Given the description of an element on the screen output the (x, y) to click on. 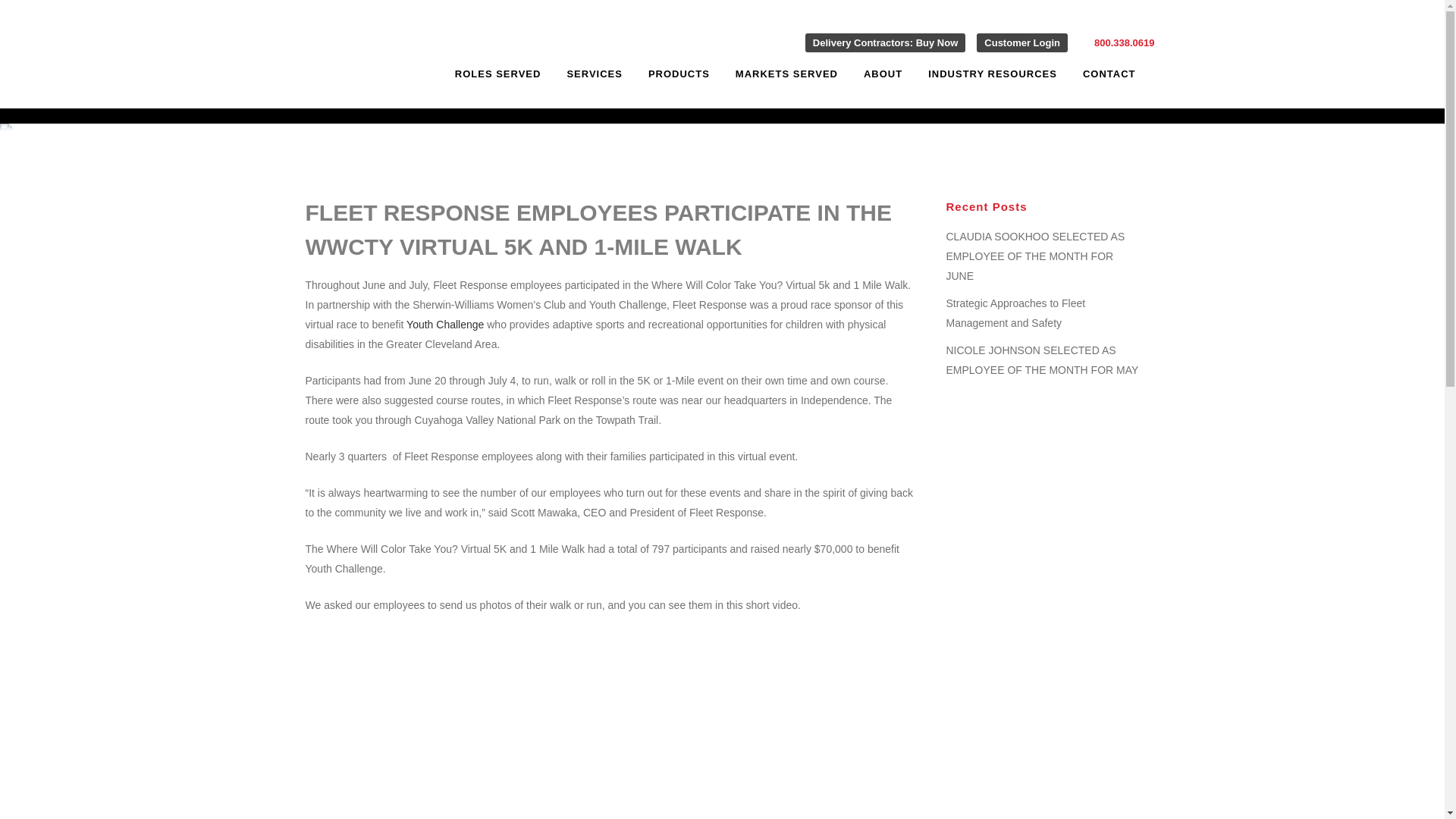
MARKETS SERVED (786, 74)
ROLES SERVED (498, 74)
PRODUCTS (678, 74)
Video Player (486, 717)
Customer Login (1021, 42)
800.338.0619 (1124, 42)
ABOUT (882, 74)
Delivery Contractors: Buy Now (885, 42)
SERVICES (593, 74)
